Given the description of an element on the screen output the (x, y) to click on. 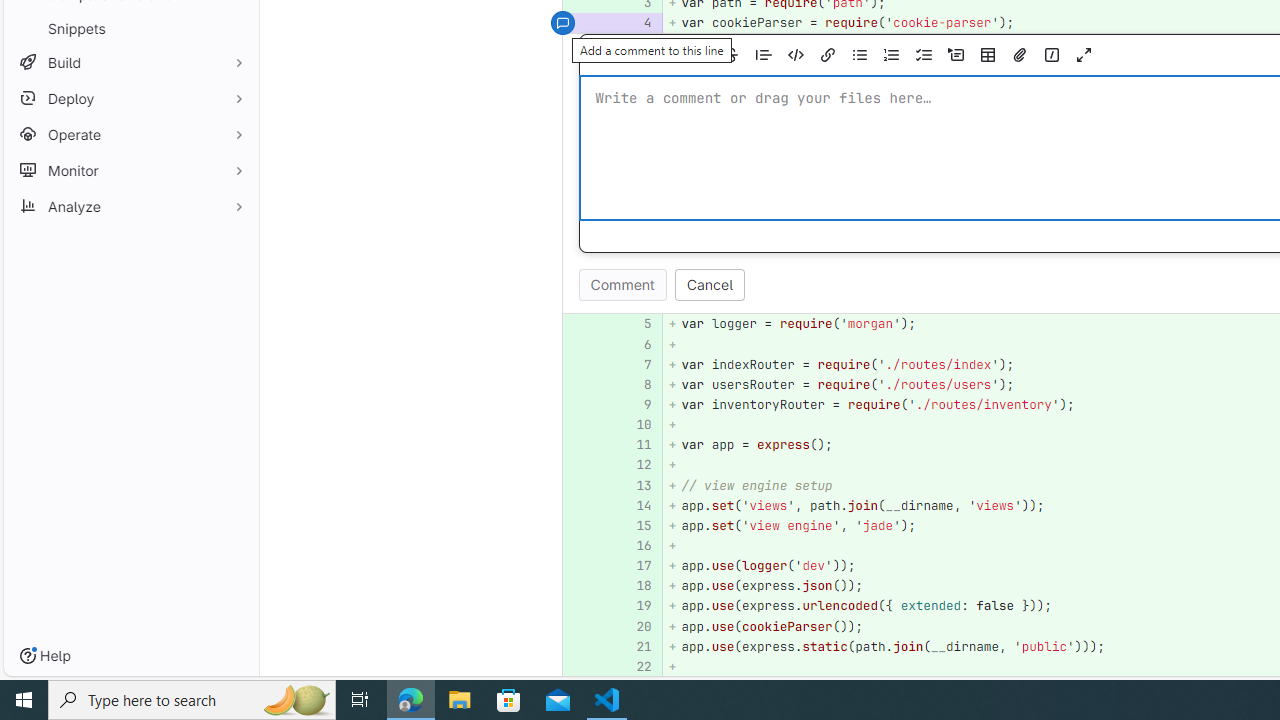
21 (633, 645)
Add a table (987, 55)
Analyze (130, 206)
13 (637, 485)
Insert code (795, 55)
14 (633, 505)
Monitor (130, 170)
17 (637, 565)
Attach a file or image (1019, 55)
Analyze (130, 206)
Add a comment to this line  (587, 665)
10 (637, 425)
11 (637, 444)
20 (637, 626)
Build (130, 62)
